Given the description of an element on the screen output the (x, y) to click on. 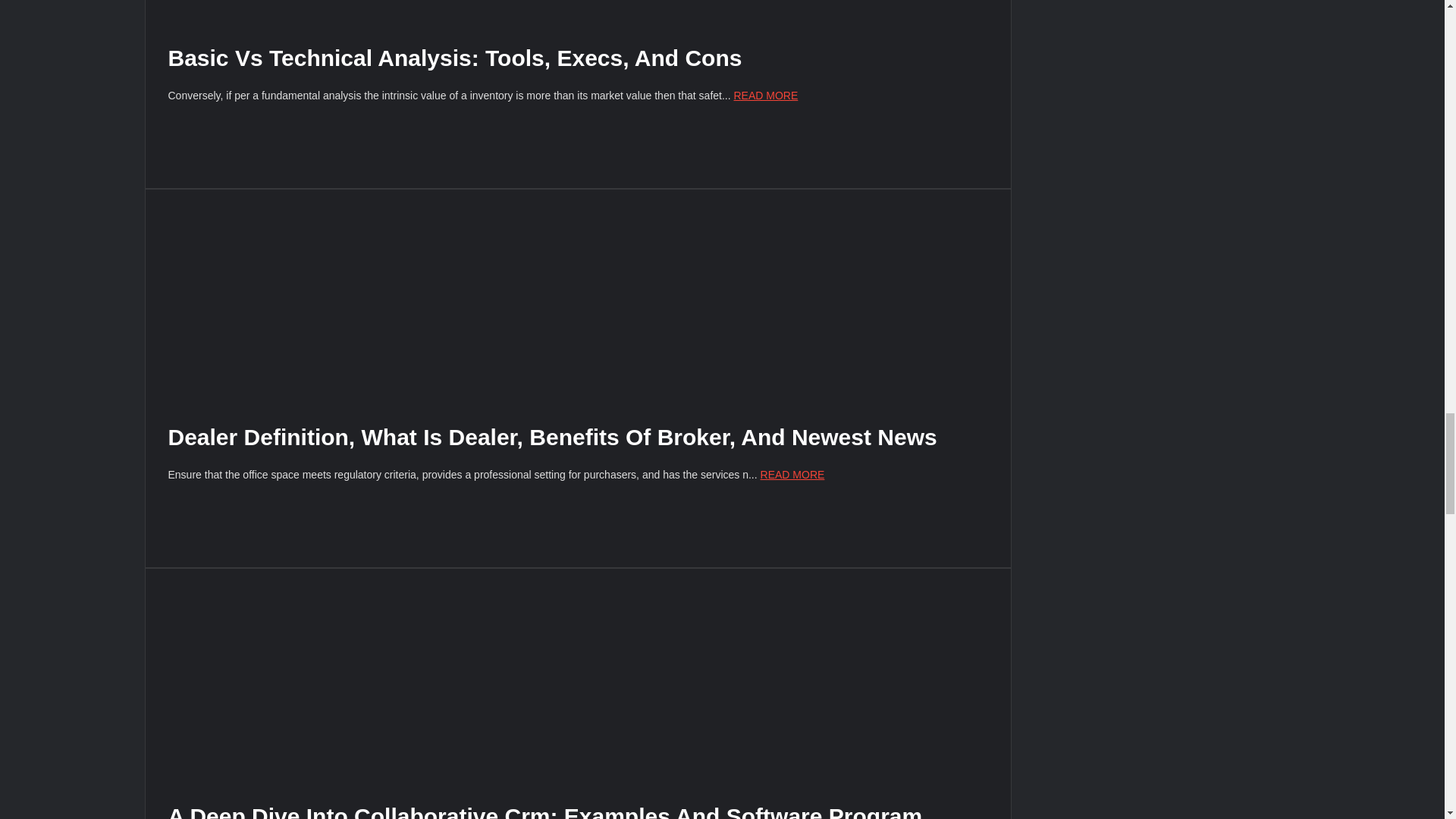
READ MORE (792, 474)
Basic Vs Technical Analysis: Tools, Execs, And Cons (455, 57)
READ MORE (765, 95)
